Given the description of an element on the screen output the (x, y) to click on. 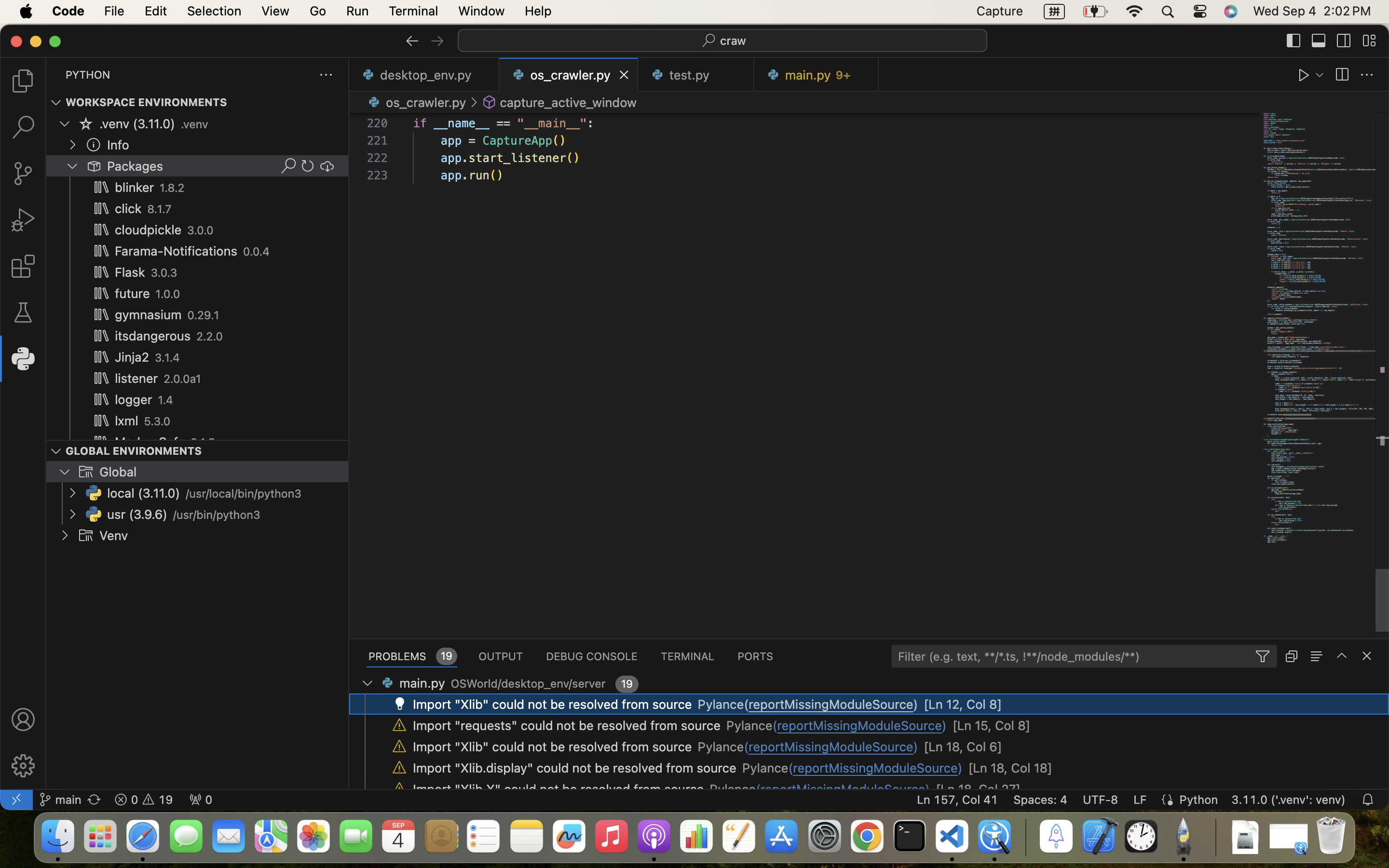
 Element type: AXGroup (23, 80)
/usr/bin/python3 Element type: AXStaticText (216, 514)
WORKSPACE ENVIRONMENTS Element type: AXStaticText (146, 102)
0  Element type: AXRadioButton (23, 127)
 Element type: AXButton (437, 40)
